Given the description of an element on the screen output the (x, y) to click on. 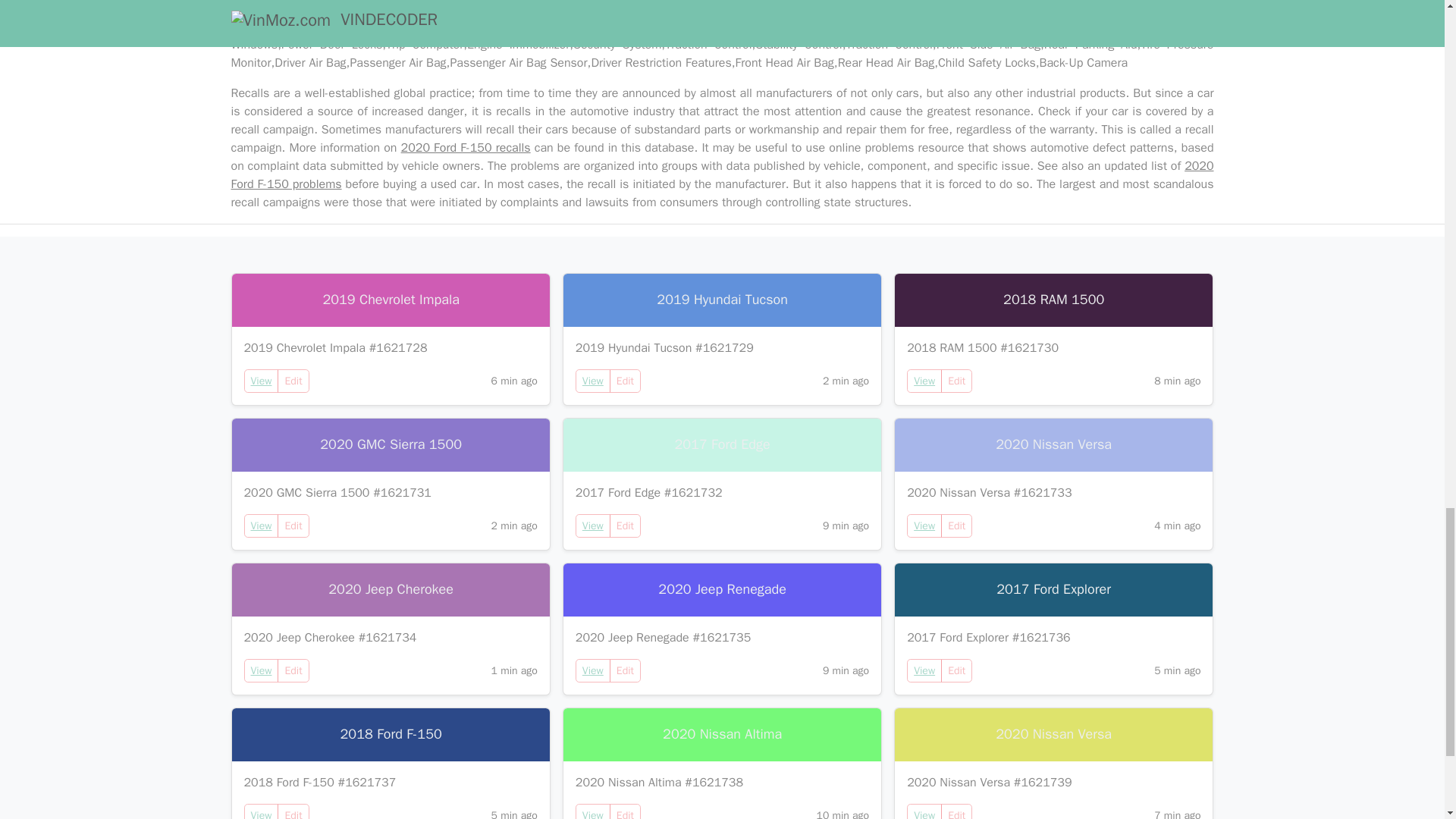
View (261, 811)
View (924, 525)
View (593, 380)
Edit (293, 525)
2019 Hyundai Tucson (721, 299)
View (593, 670)
2020 Jeep Cherokee (390, 589)
Edit (625, 525)
Edit (956, 525)
2020 GMC Sierra 1500 (390, 444)
